Given the description of an element on the screen output the (x, y) to click on. 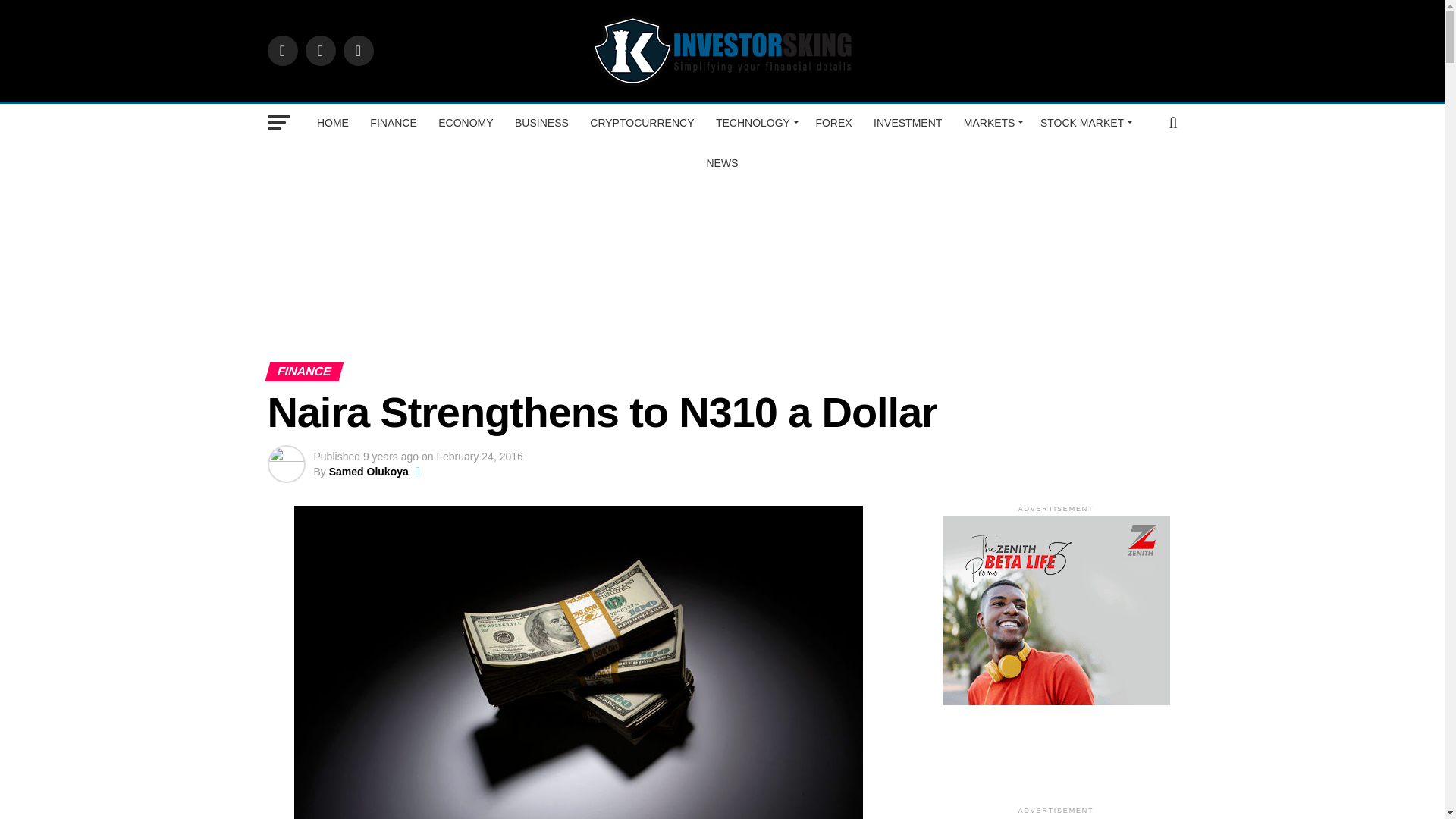
TECHNOLOGY (754, 122)
INVESTMENT (907, 122)
BUSINESS (541, 122)
HOME (332, 122)
FOREX (833, 122)
CRYPTOCURRENCY (641, 122)
FINANCE (393, 122)
MARKETS (991, 122)
ECONOMY (465, 122)
